Given the description of an element on the screen output the (x, y) to click on. 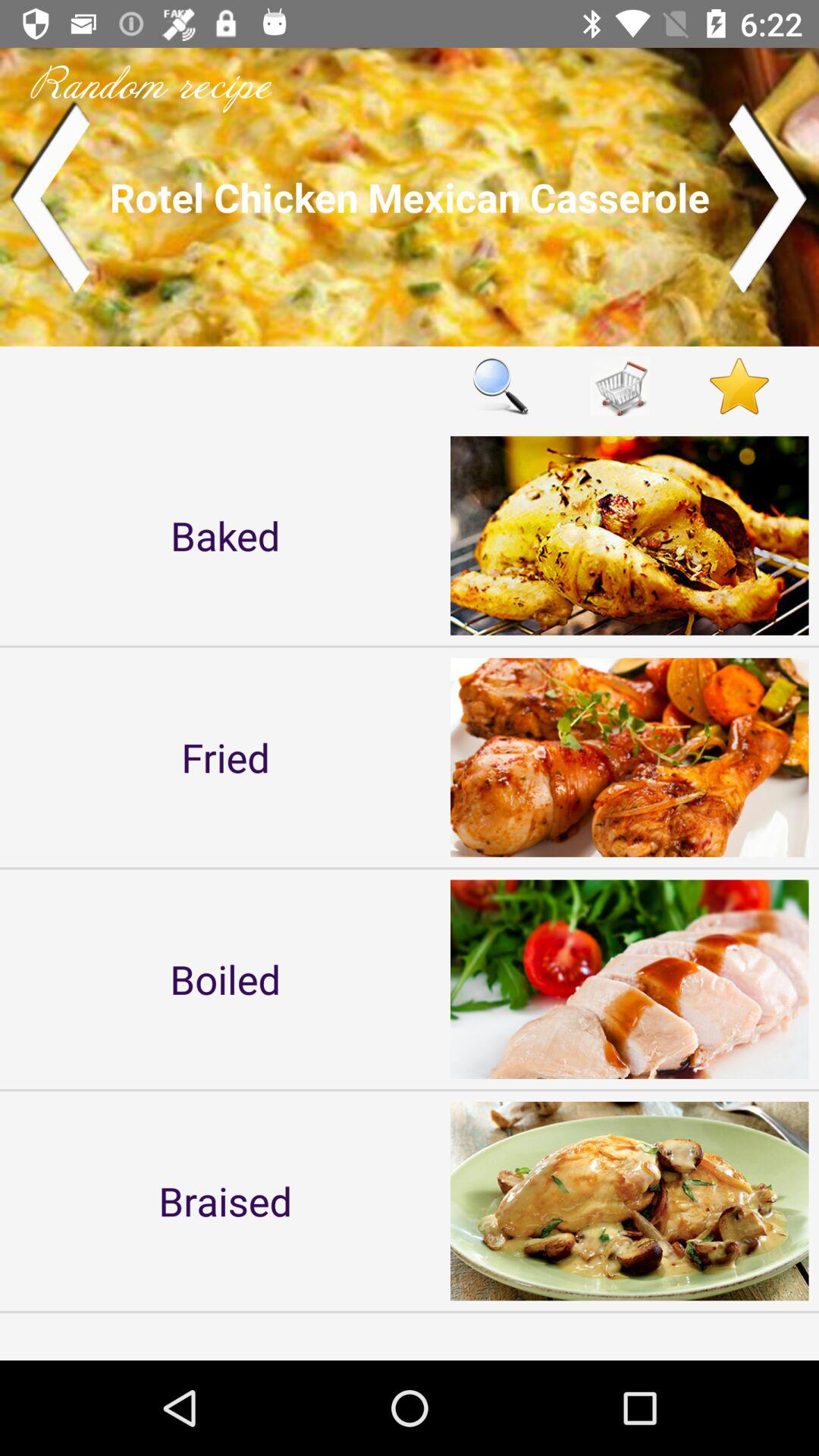
swipe until boiled icon (225, 978)
